Given the description of an element on the screen output the (x, y) to click on. 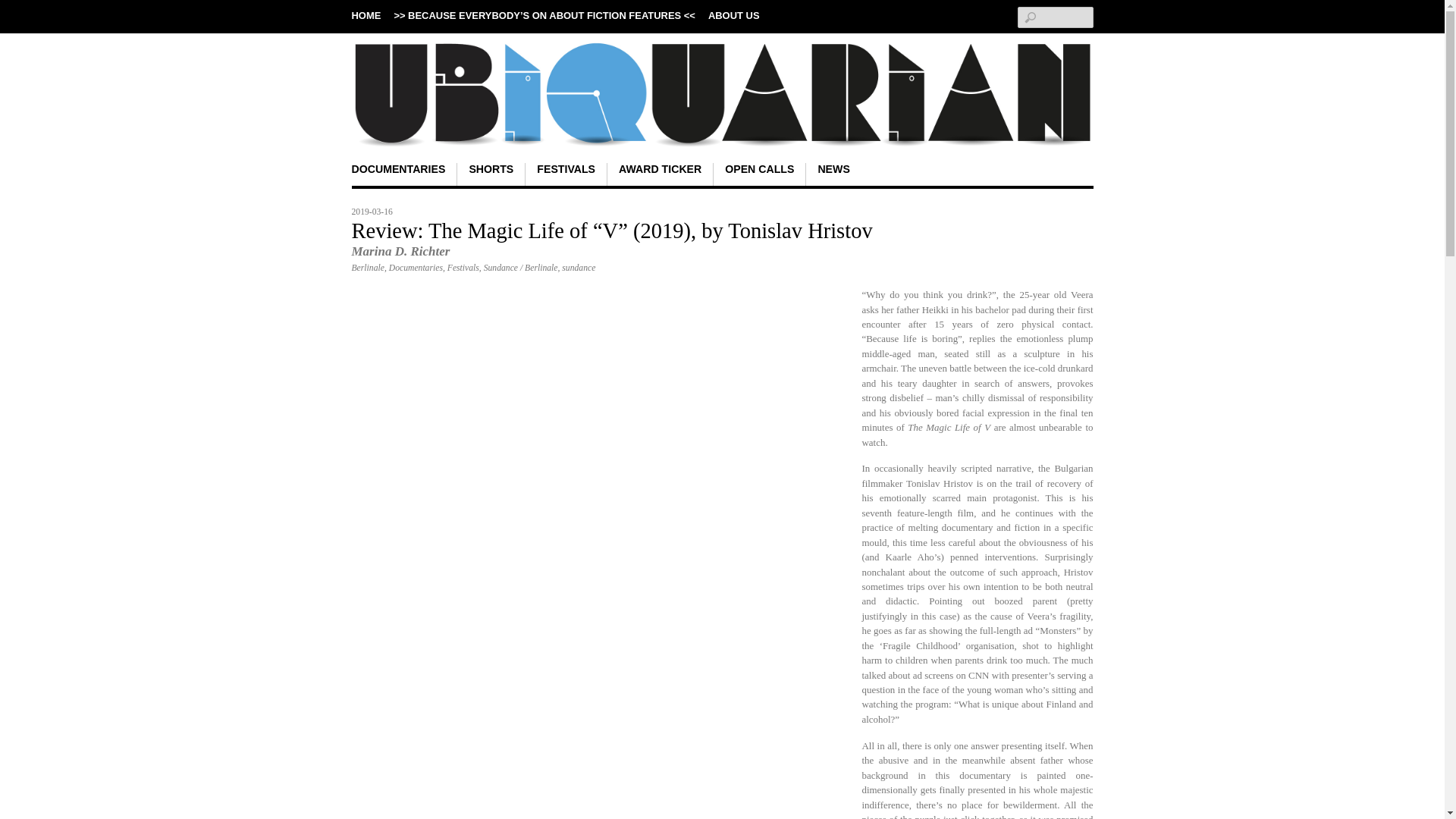
ABOUT US (733, 15)
HOME (366, 15)
FESTIVALS (566, 173)
DOCUMENTARIES (398, 173)
ubiquarian (722, 121)
SHORTS (491, 173)
ubiquarian banner (722, 93)
